Given the description of an element on the screen output the (x, y) to click on. 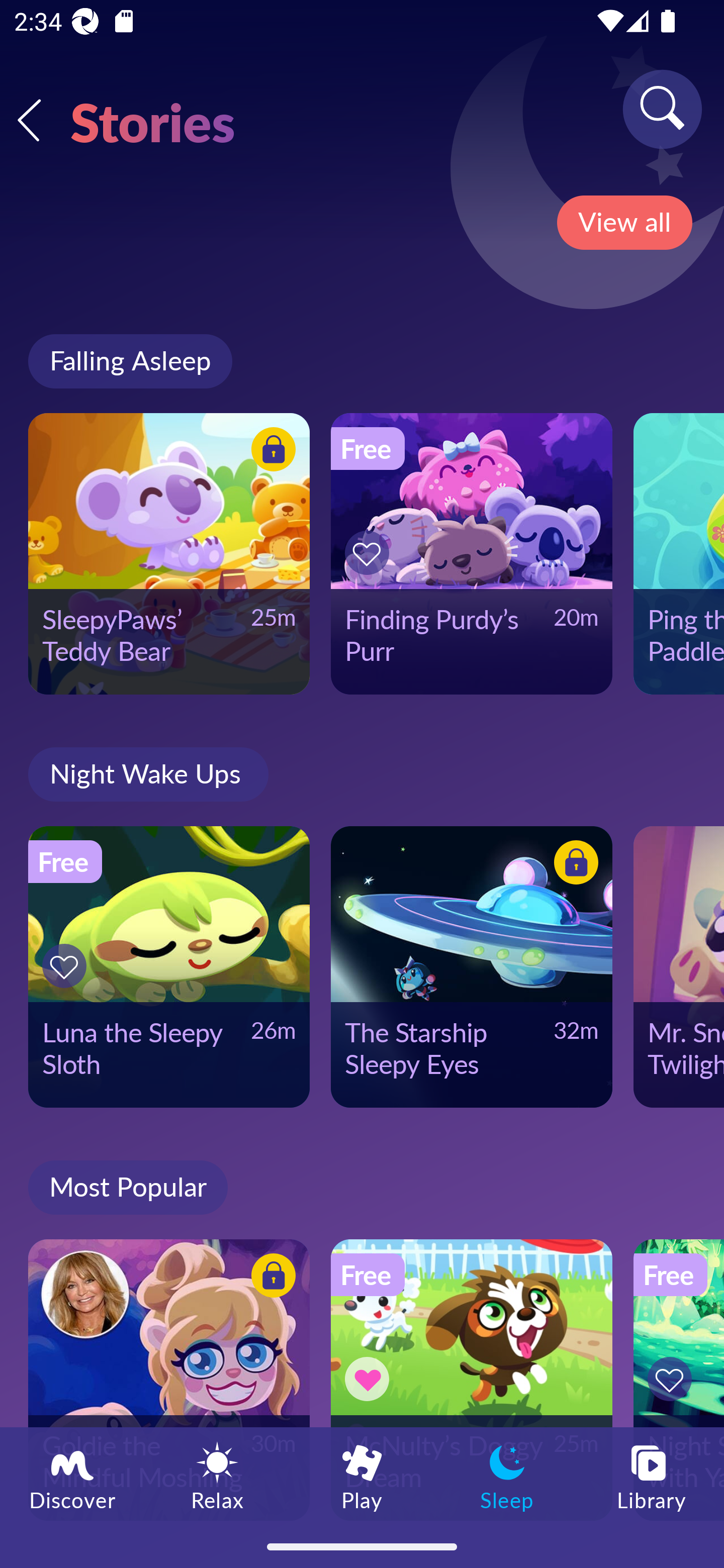
View all (624, 222)
Button (269, 451)
Button (369, 552)
Button (573, 865)
Button (67, 965)
Button (269, 1277)
Button (369, 1378)
Button (672, 1378)
Discover (72, 1475)
Relax (216, 1475)
Play (361, 1475)
Library (651, 1475)
